Given the description of an element on the screen output the (x, y) to click on. 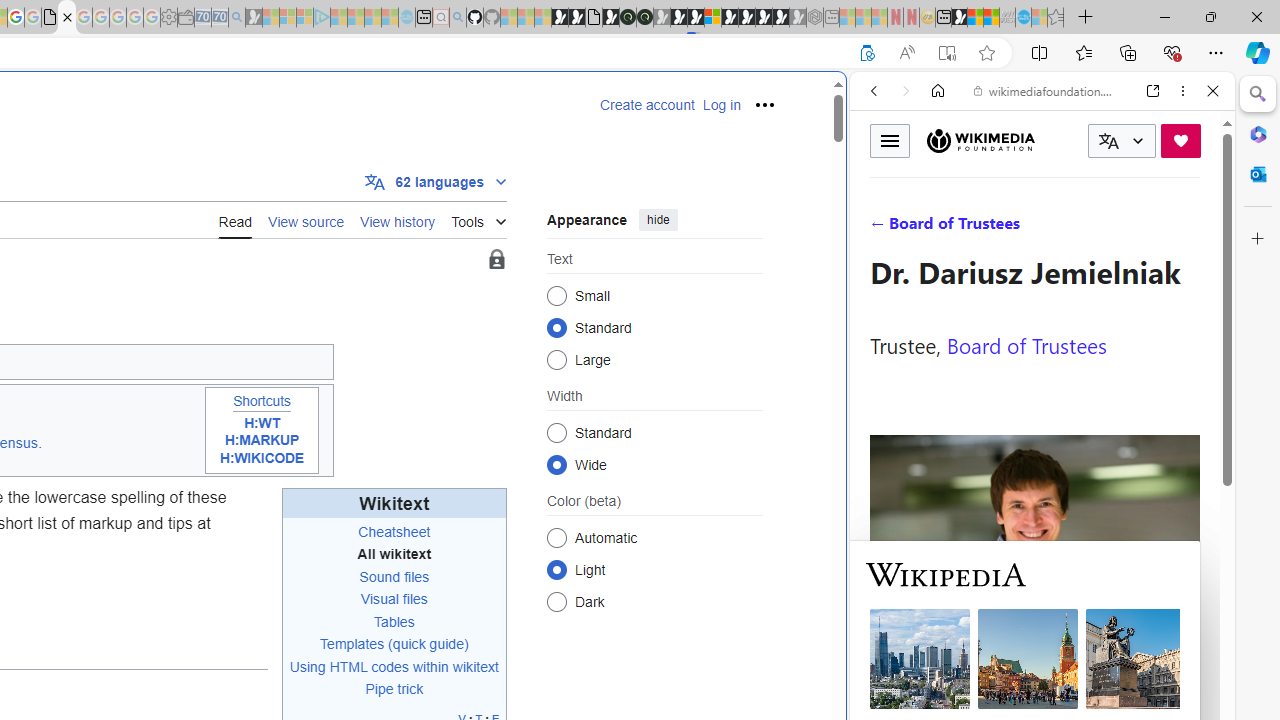
Forward (906, 91)
MSN (959, 17)
Cheatsheet (394, 531)
Create account (647, 105)
Dark (556, 601)
Tables (394, 621)
Templates (352, 644)
Large (556, 359)
Search Filter, IMAGES (939, 228)
Home | Sky Blue Bikes - Sky Blue Bikes - Sleeping (406, 17)
Support Wikipedia? (867, 53)
